Given the description of an element on the screen output the (x, y) to click on. 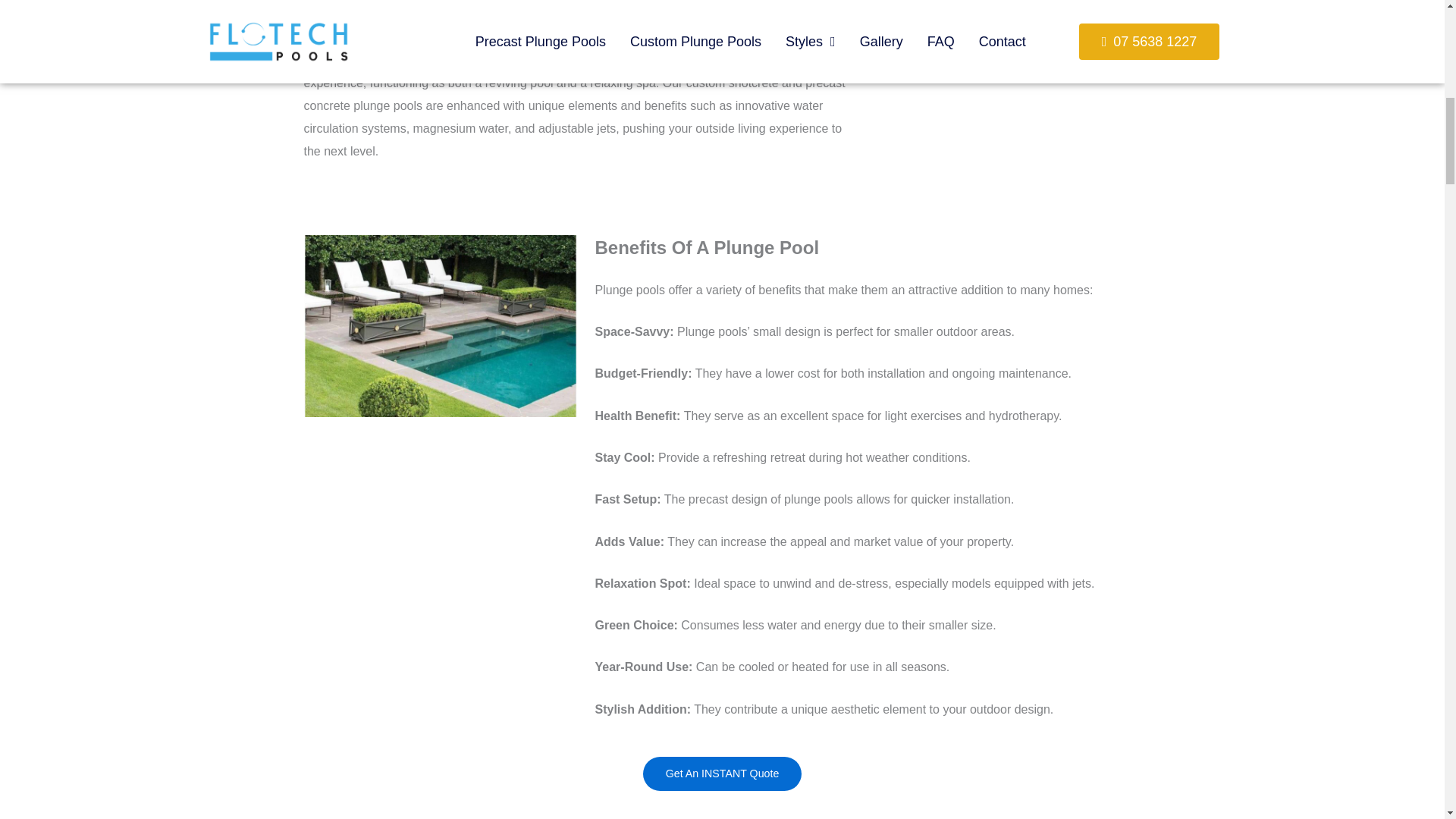
Get An INSTANT Quote (722, 773)
